Given the description of an element on the screen output the (x, y) to click on. 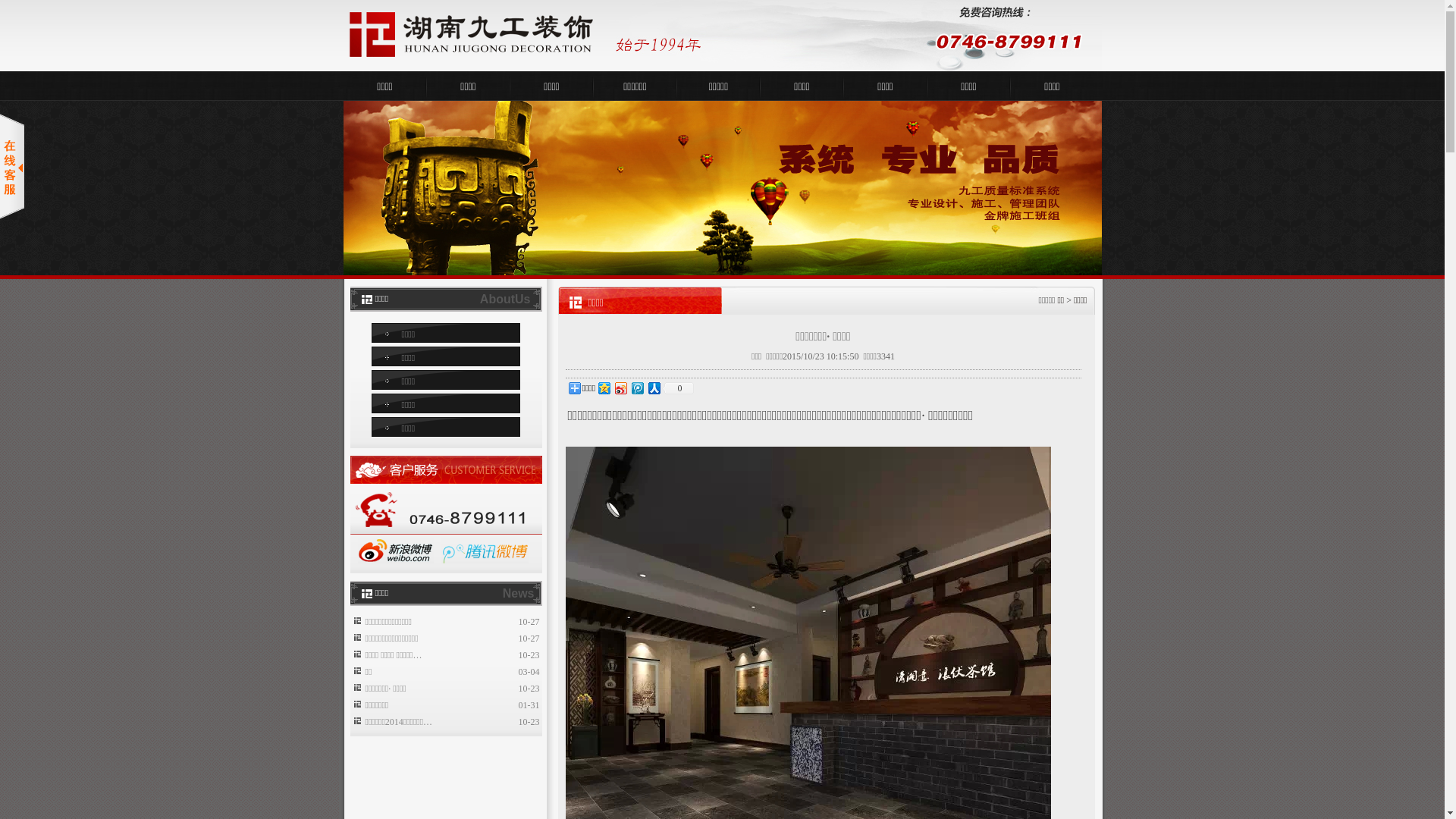
0 Element type: text (677, 388)
